Given the description of an element on the screen output the (x, y) to click on. 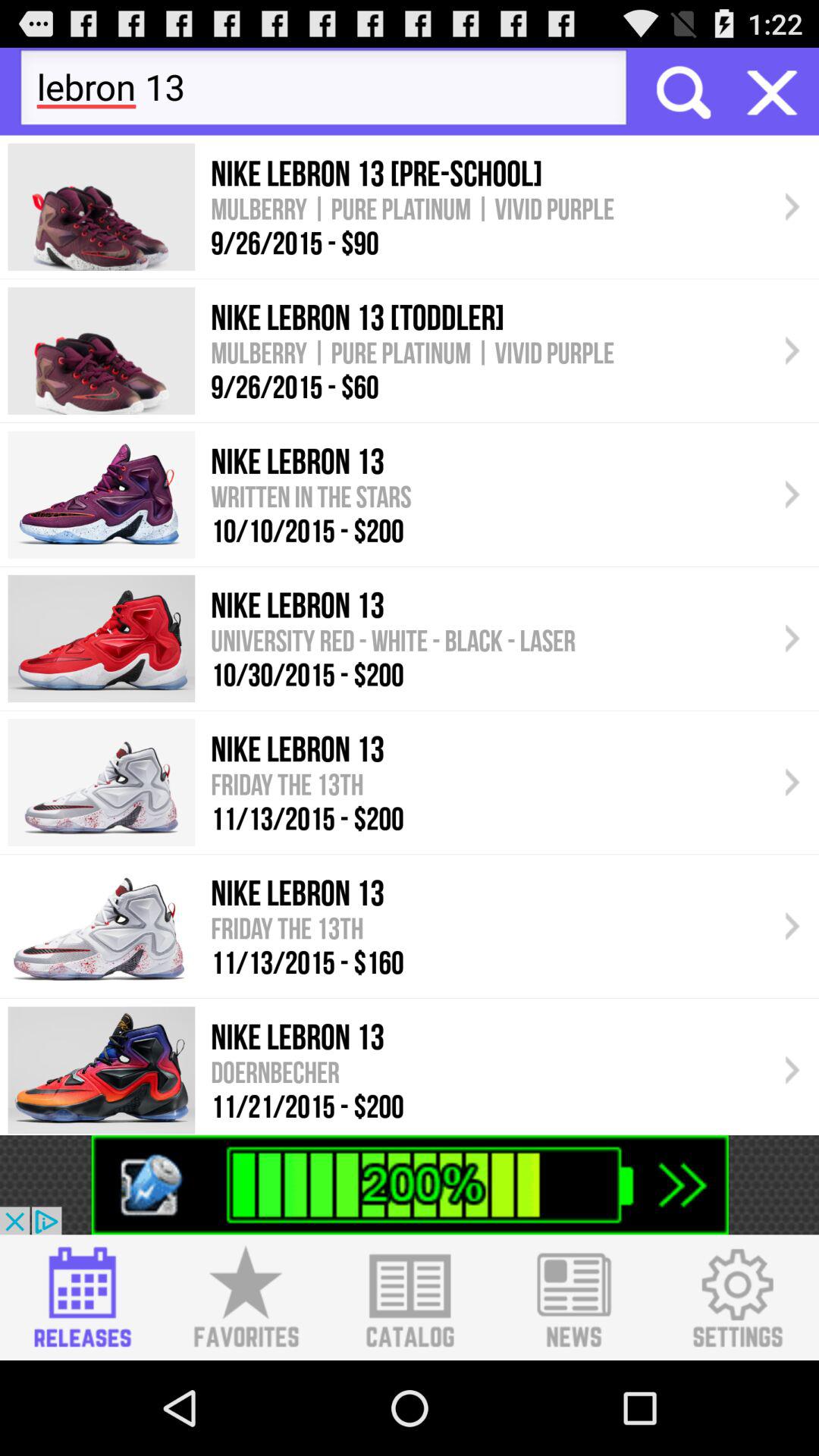
go to news page (573, 1297)
